Given the description of an element on the screen output the (x, y) to click on. 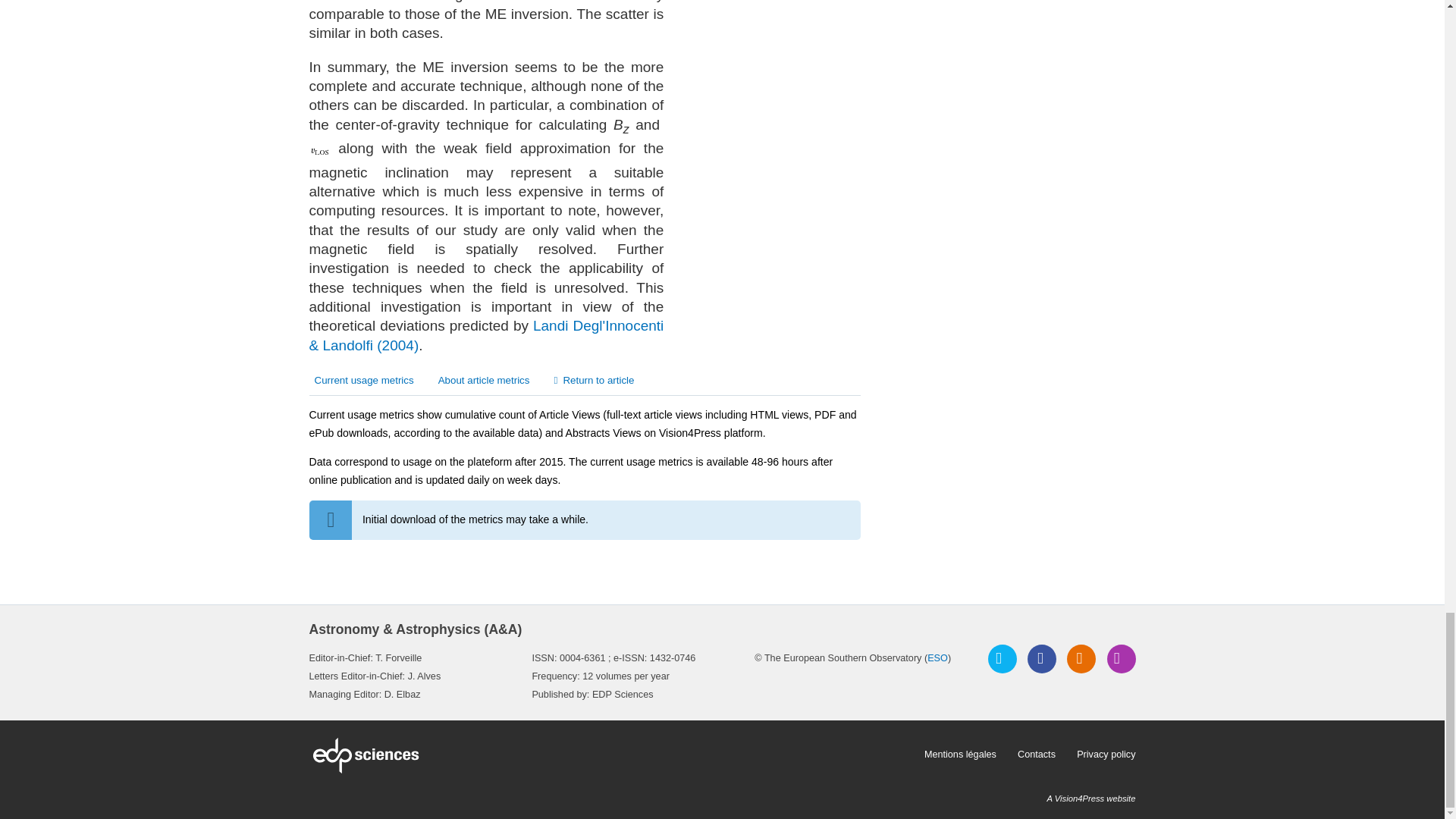
Alerte courriel (1120, 658)
Follow us on twitter (1002, 658)
Follow us on Facebook (1042, 658)
EDP Sciences website (611, 754)
